Given the description of an element on the screen output the (x, y) to click on. 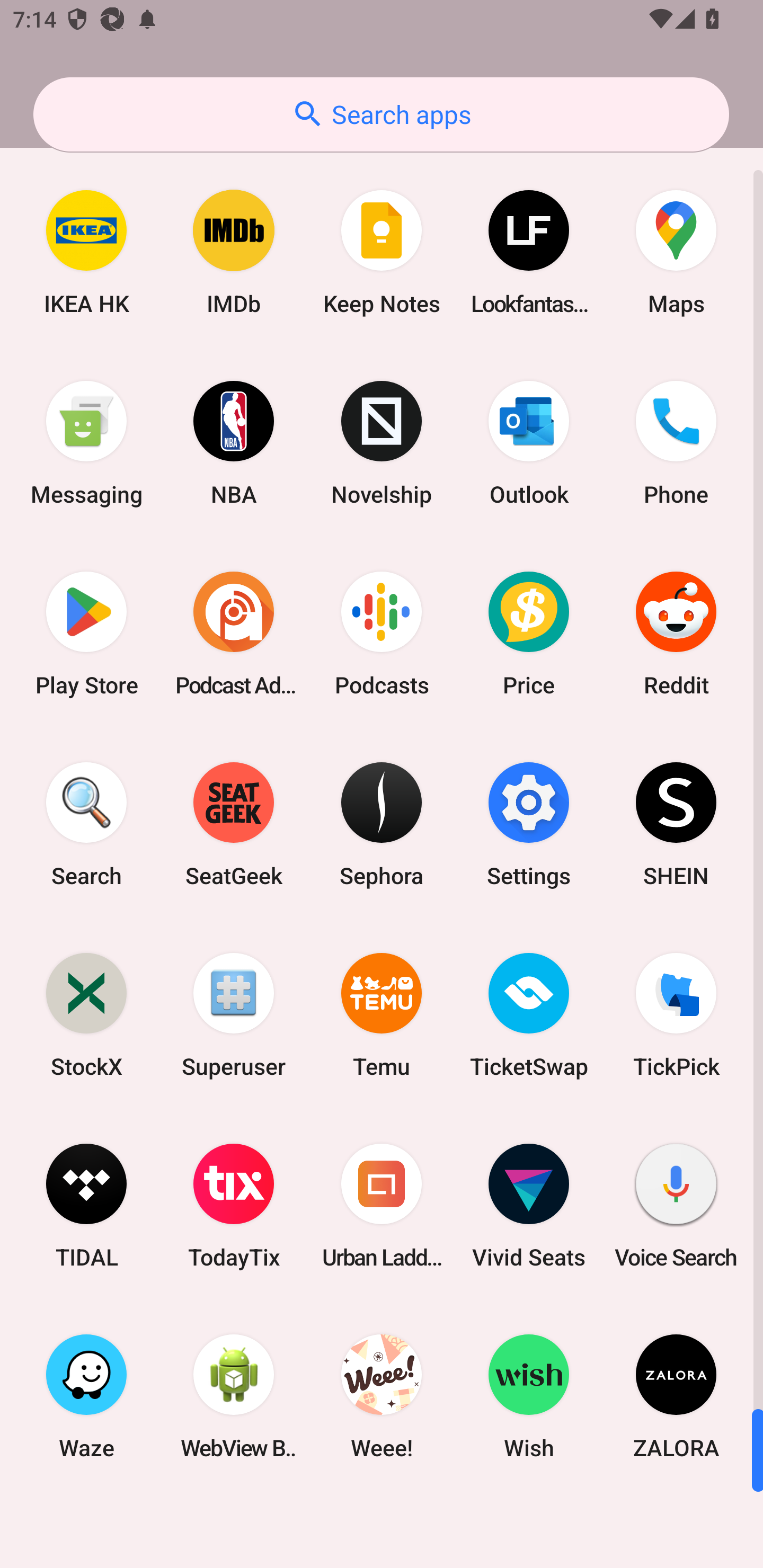
  Search apps (381, 114)
IKEA HK (86, 252)
IMDb (233, 252)
Keep Notes (381, 252)
Lookfantastic (528, 252)
Maps (676, 252)
Messaging (86, 442)
NBA (233, 442)
Novelship (381, 442)
Outlook (528, 442)
Phone (676, 442)
Play Store (86, 633)
Podcast Addict (233, 633)
Podcasts (381, 633)
Price (528, 633)
Reddit (676, 633)
Search (86, 823)
SeatGeek (233, 823)
Sephora (381, 823)
Settings (528, 823)
SHEIN (676, 823)
StockX (86, 1014)
Superuser (233, 1014)
Temu (381, 1014)
TicketSwap (528, 1014)
TickPick (676, 1014)
TIDAL (86, 1205)
TodayTix (233, 1205)
Urban Ladder (381, 1205)
Vivid Seats (528, 1205)
Voice Search (676, 1205)
Waze (86, 1396)
WebView Browser Tester (233, 1396)
Weee! (381, 1396)
Wish (528, 1396)
ZALORA (676, 1396)
